Given the description of an element on the screen output the (x, y) to click on. 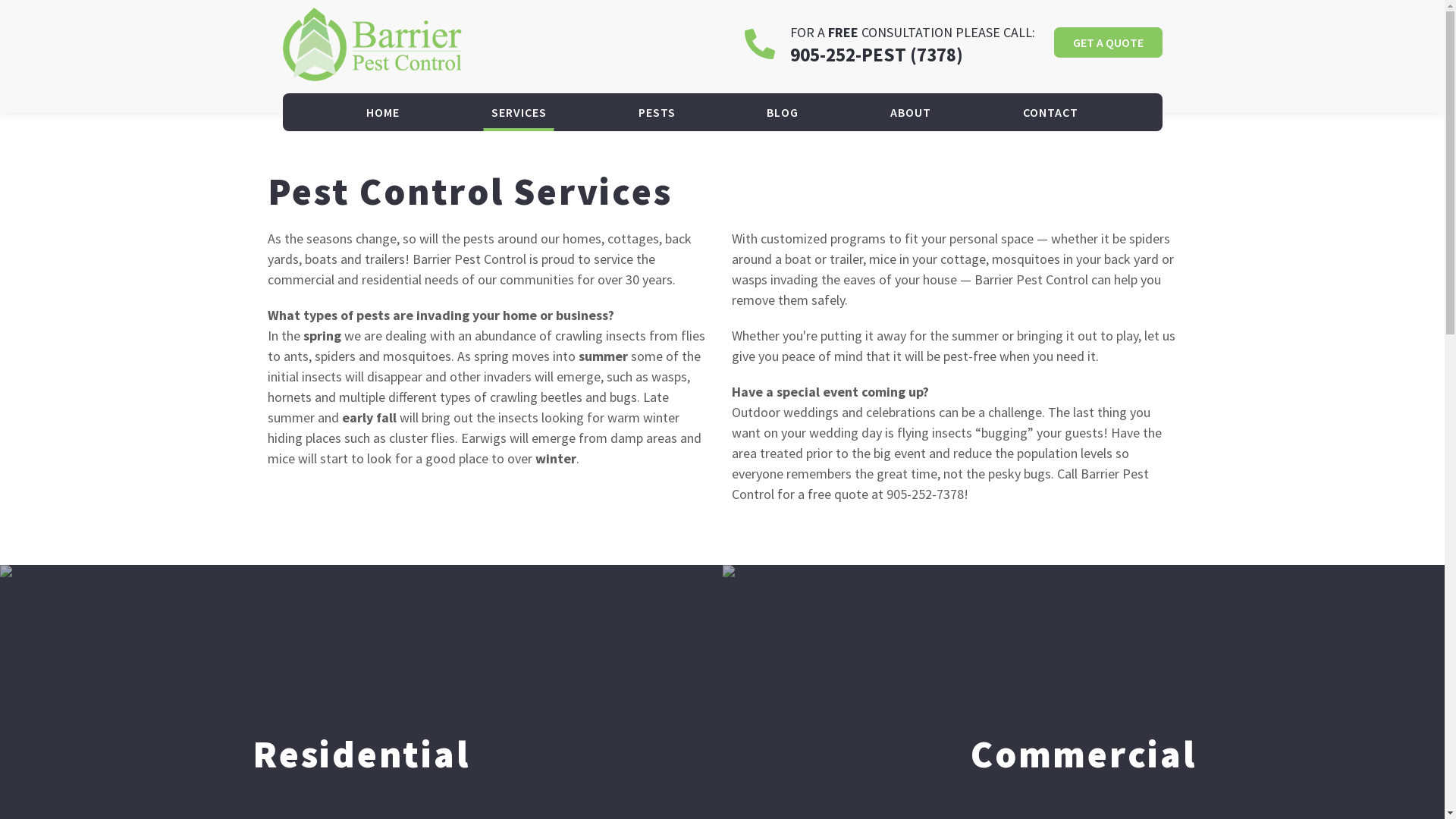
HOME Element type: text (382, 112)
ABOUT Element type: text (910, 112)
PESTS Element type: text (656, 112)
905-252-PEST (7378) Element type: text (876, 54)
GET A QUOTE Element type: text (1108, 42)
SERVICES Element type: text (518, 112)
Return to home page Element type: hover (371, 44)
BLOG Element type: text (782, 112)
CONTACT Element type: text (1050, 112)
